Given the description of an element on the screen output the (x, y) to click on. 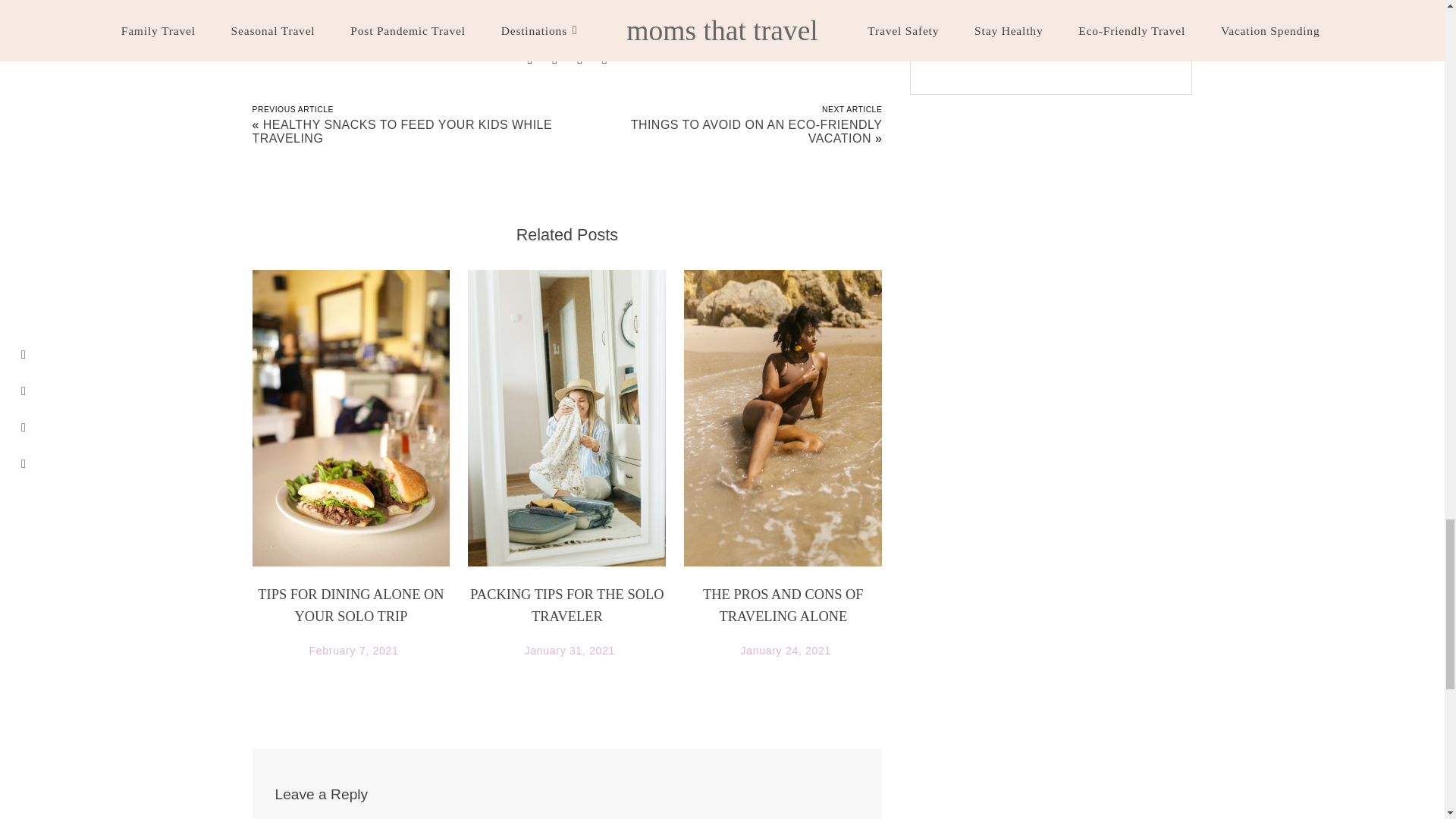
Send this article to a friend! (529, 57)
Tweet this! (604, 57)
Share on Facebook. (554, 57)
